Given the description of an element on the screen output the (x, y) to click on. 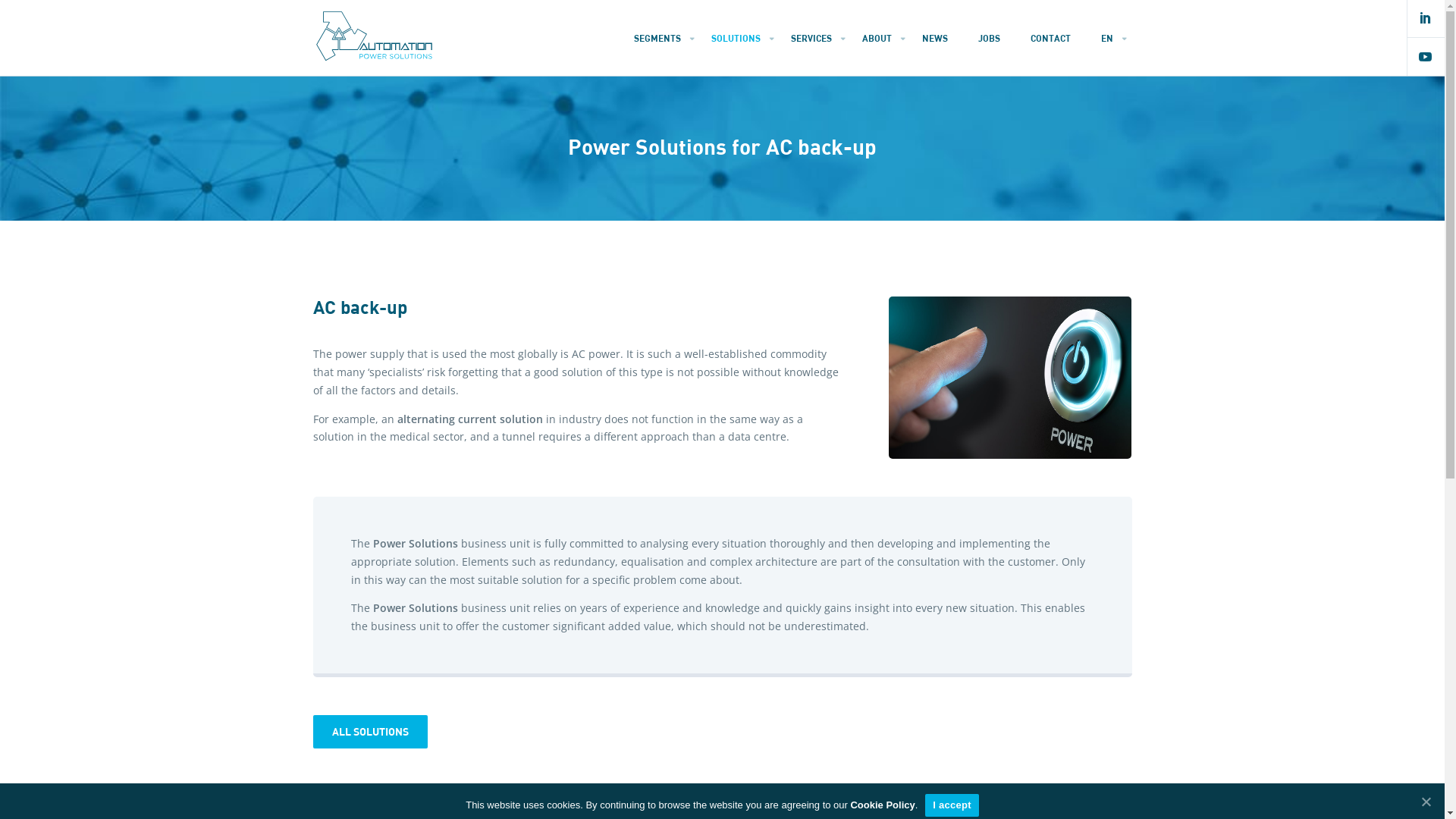
ALL SOLUTIONS Element type: text (369, 731)
NEWS Element type: text (938, 37)
CONTACT Element type: text (1054, 37)
I accept Element type: text (951, 804)
Power Solutions - AC secouru Element type: hover (1009, 377)
JOBS Element type: text (992, 37)
EN Element type: text (1109, 37)
SERVICES Element type: text (814, 37)
ABOUT Element type: text (880, 37)
Cookie Policy Element type: text (882, 804)
SEGMENTS Element type: text (660, 37)
SOLUTIONS Element type: text (738, 37)
